Given the description of an element on the screen output the (x, y) to click on. 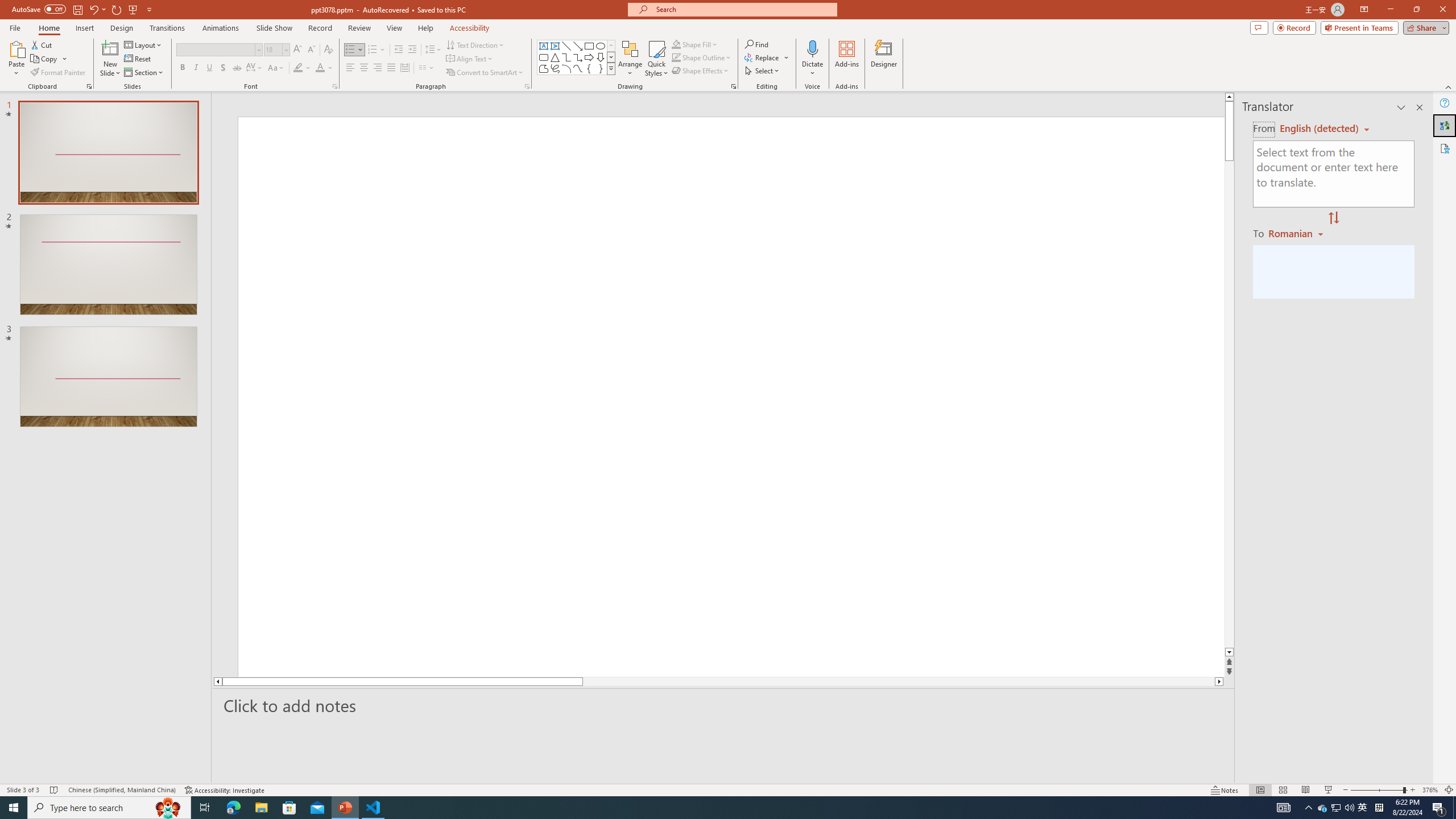
Zoom 376% (1430, 790)
